Given the description of an element on the screen output the (x, y) to click on. 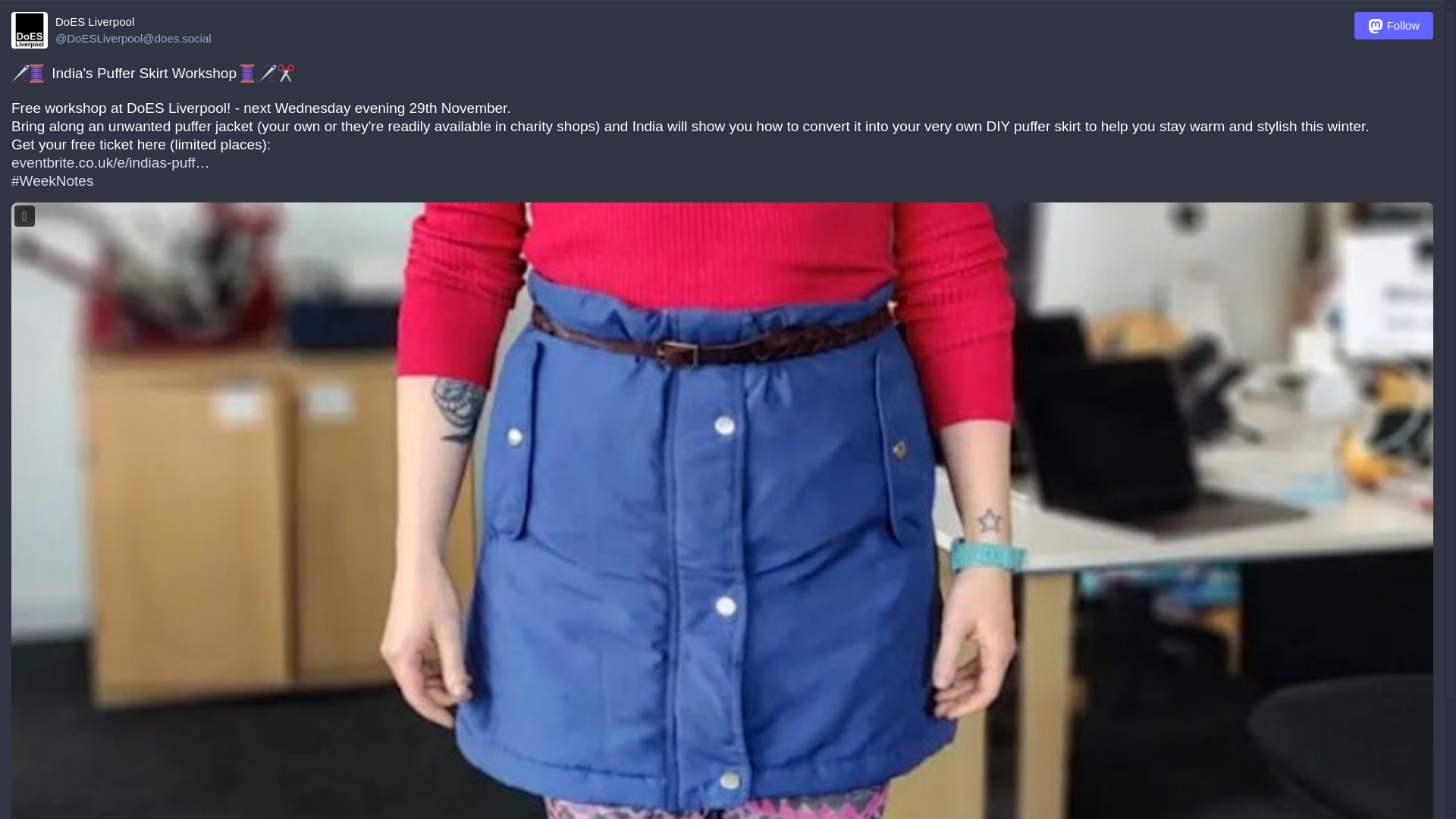
Follow (1393, 25)
:thread: (249, 73)
:scissors: (285, 73)
Hide image (24, 215)
:thread: (38, 73)
